Given the description of an element on the screen output the (x, y) to click on. 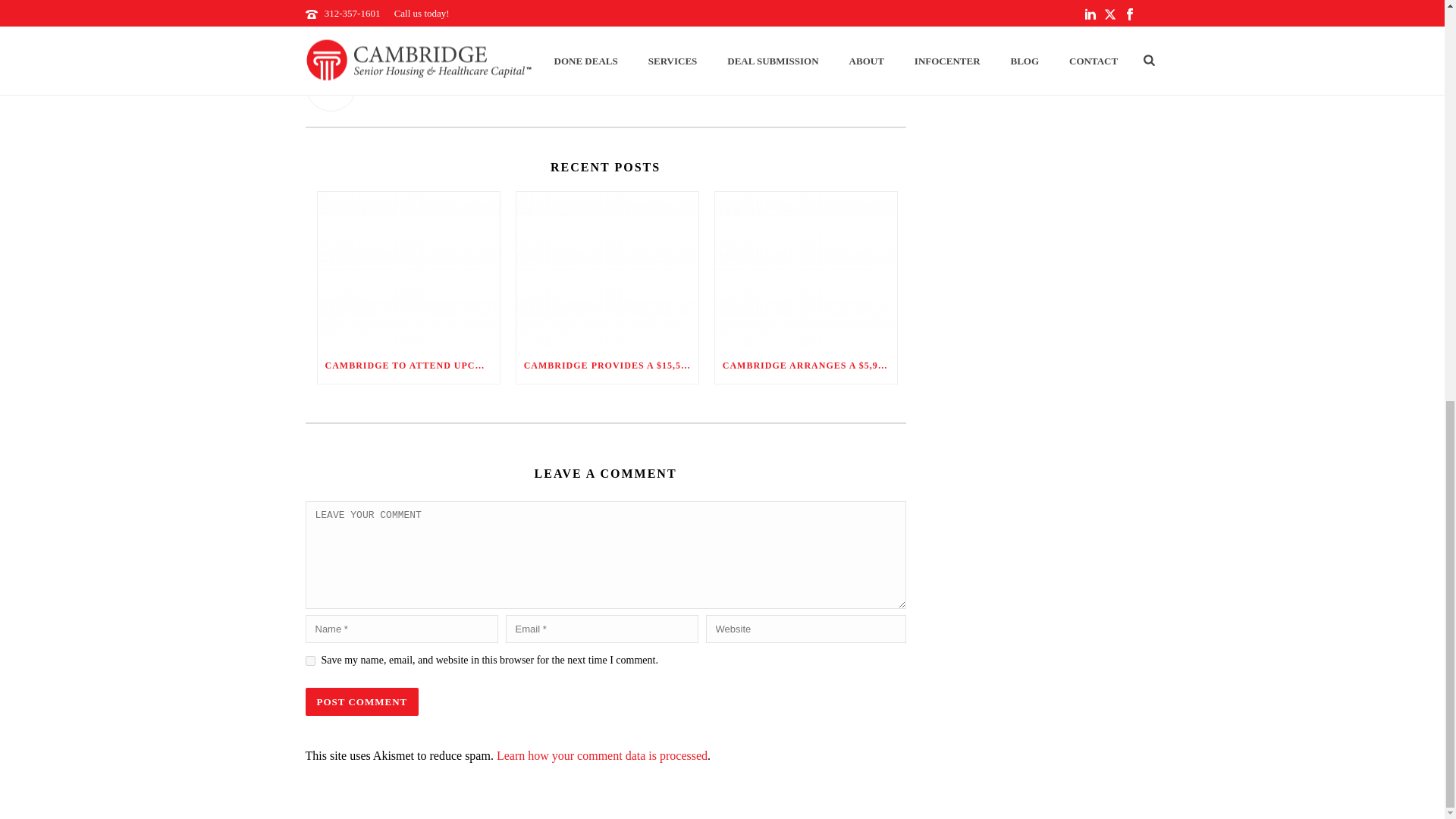
Get in touch with me via email (374, 88)
POST COMMENT (361, 701)
yes (309, 660)
Cambridge To Attend Upcoming Ohio Health Care Convention (408, 269)
